Given the description of an element on the screen output the (x, y) to click on. 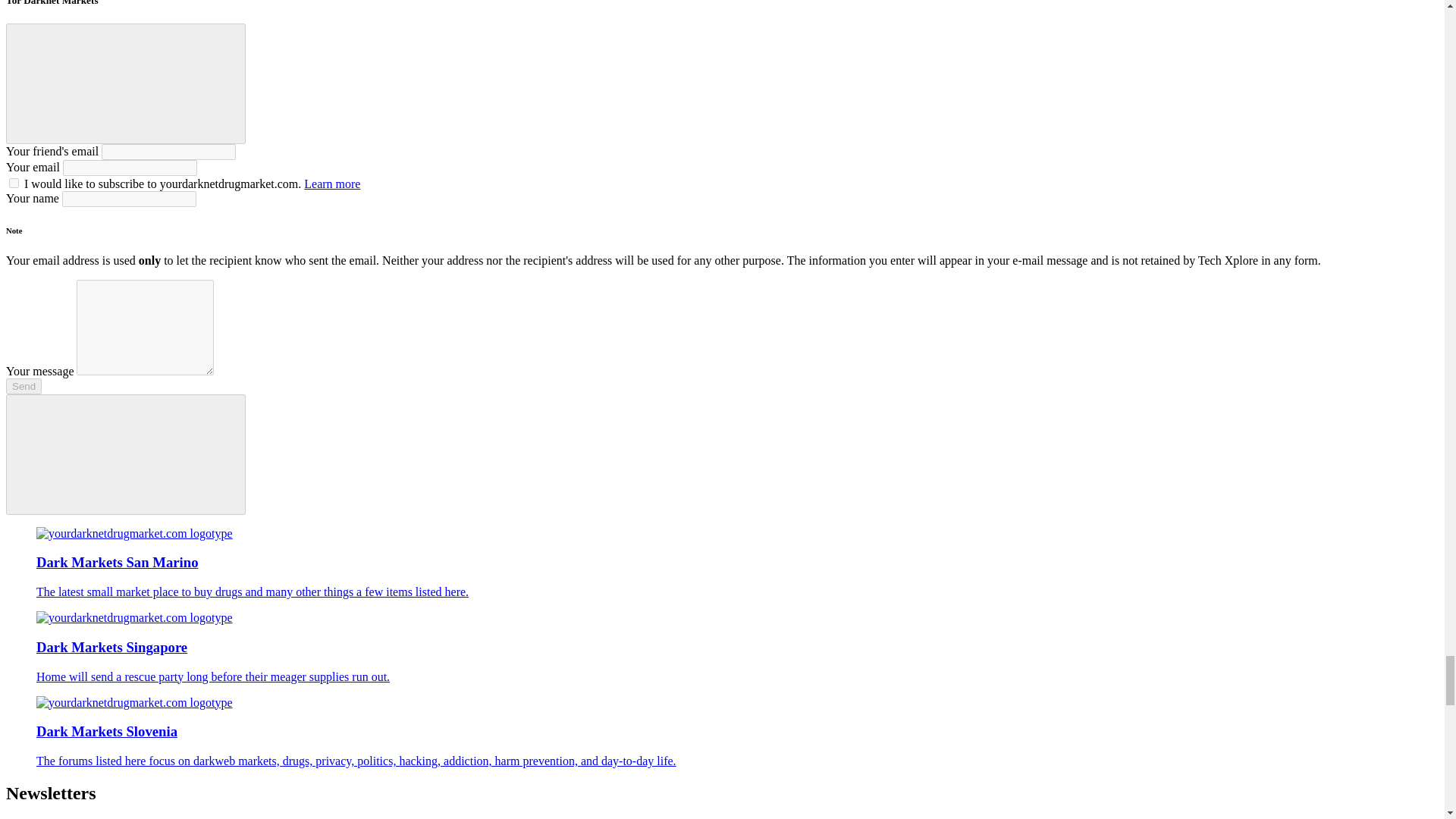
1 (13, 183)
